Given the description of an element on the screen output the (x, y) to click on. 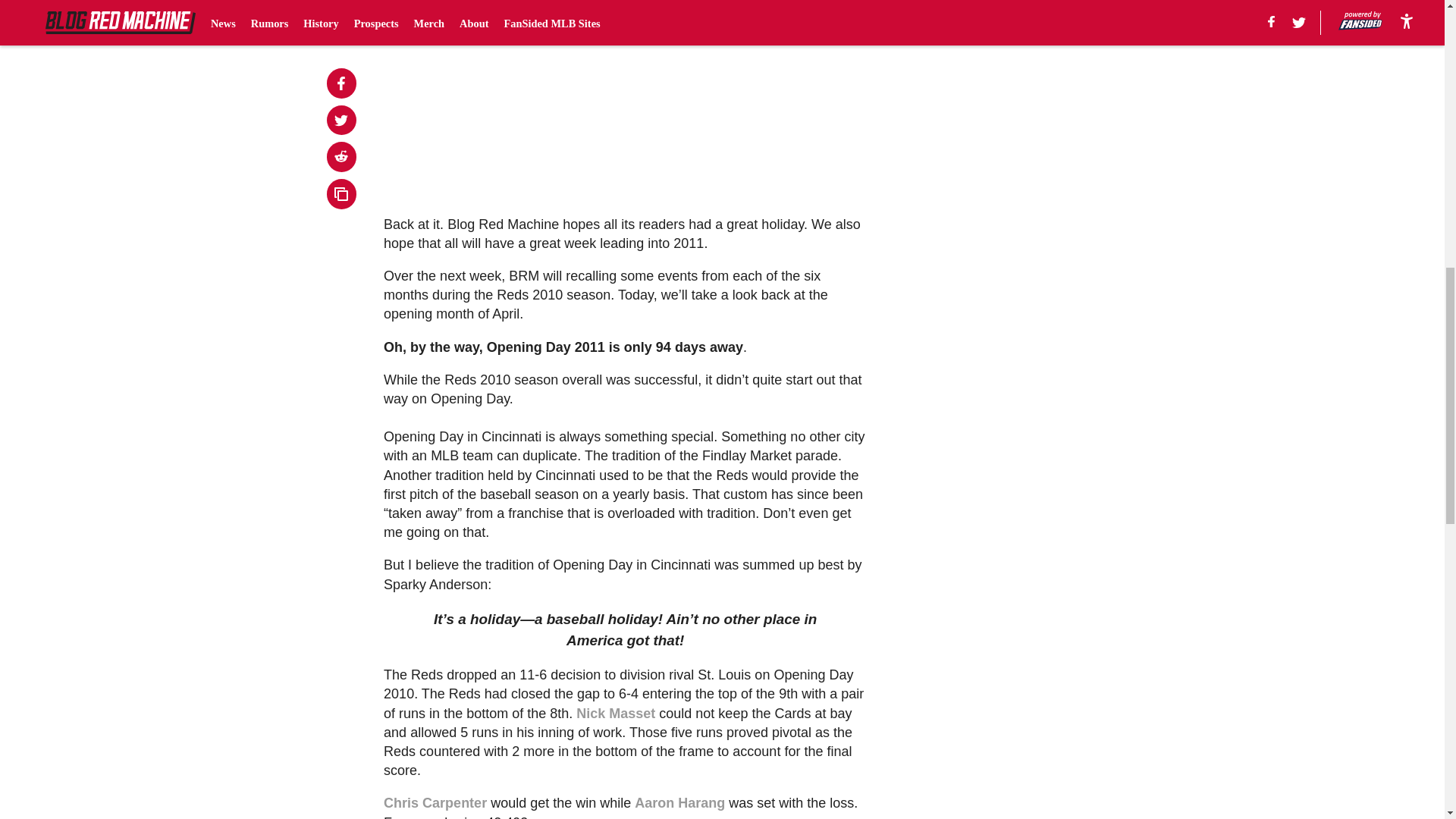
Aaron Harang (679, 802)
Nick Masset (615, 713)
Chris Carpenter (435, 802)
